Given the description of an element on the screen output the (x, y) to click on. 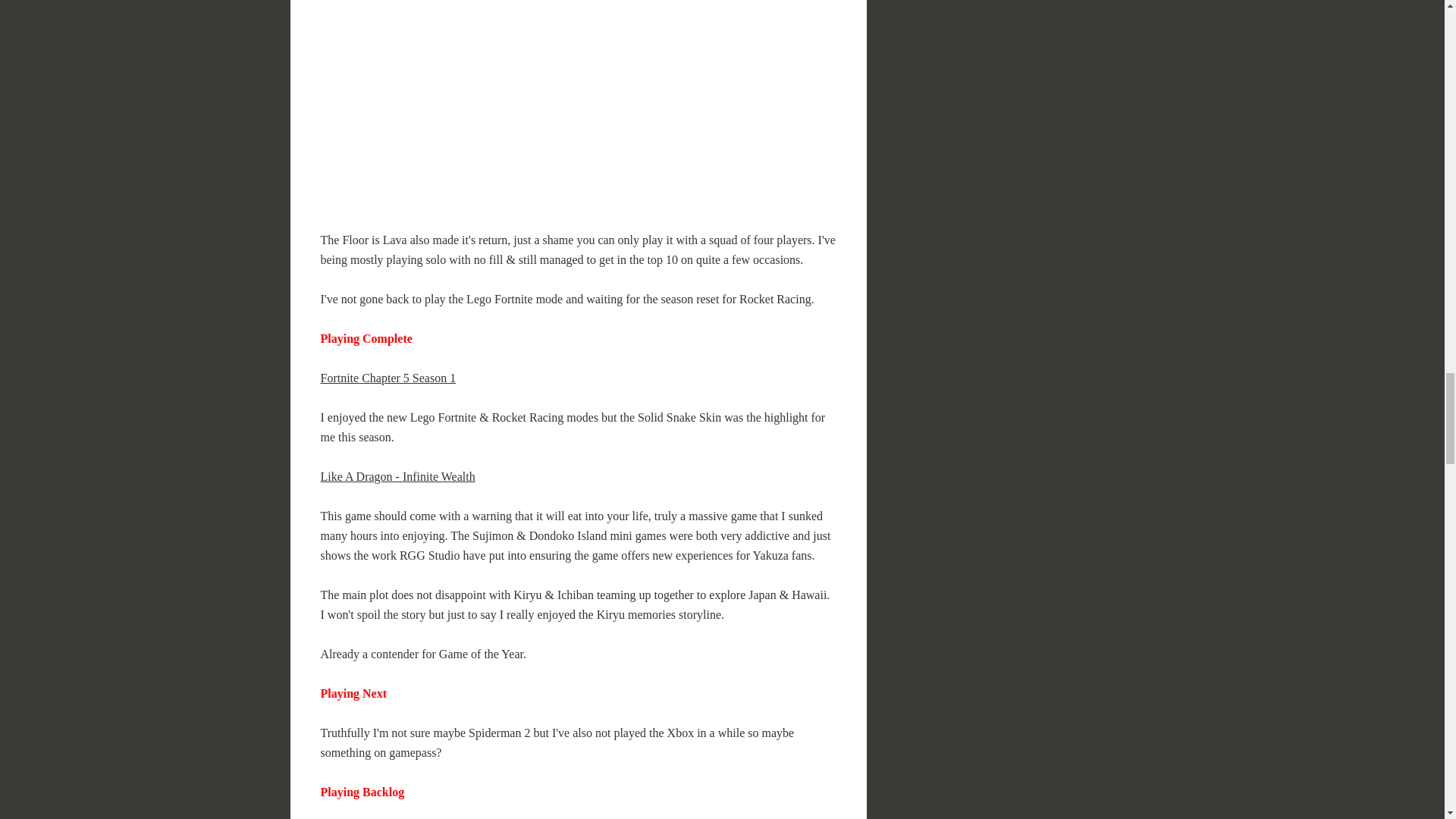
YouTube video player (535, 102)
